Given the description of an element on the screen output the (x, y) to click on. 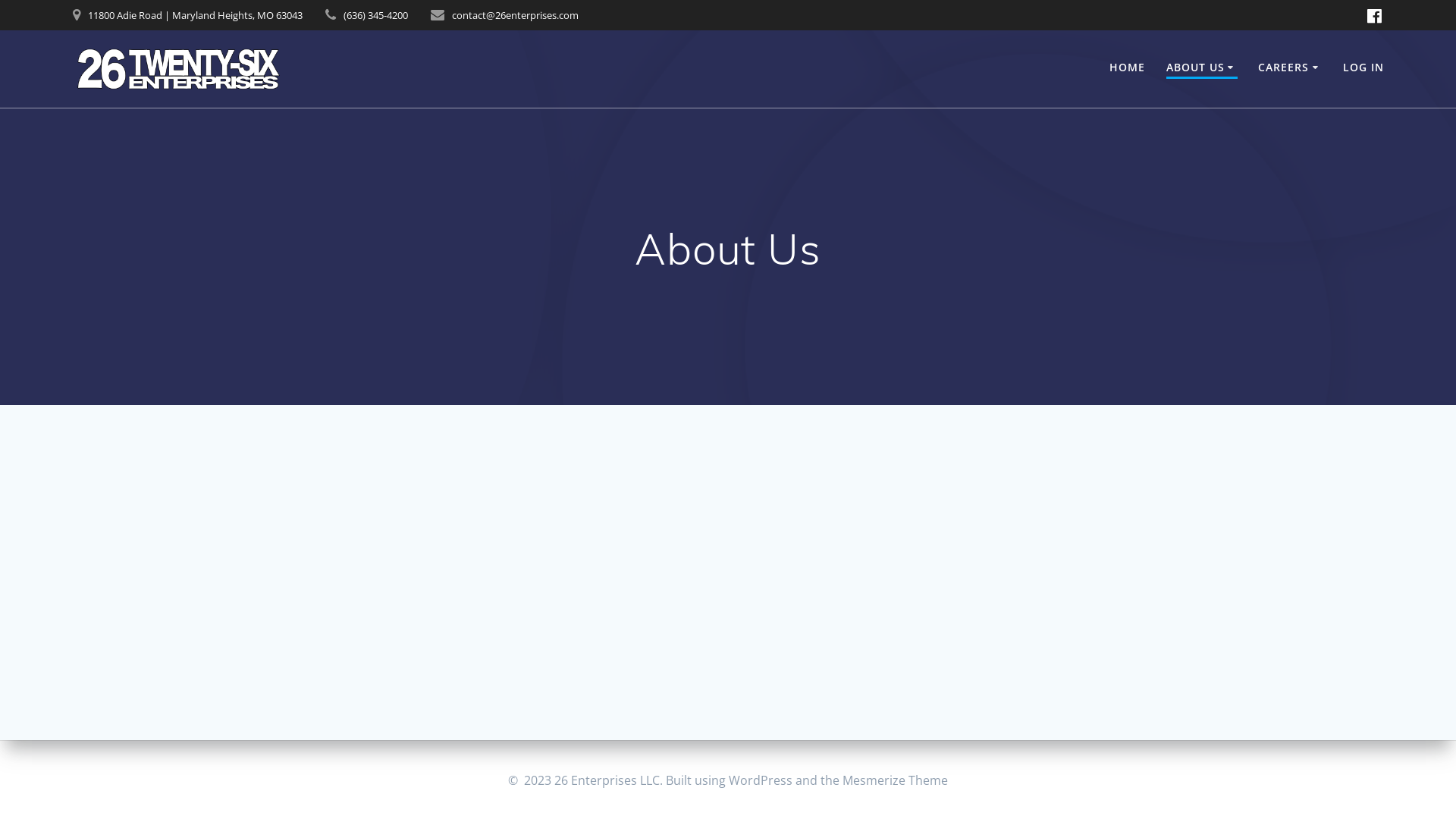
Mesmerize Theme Element type: text (894, 779)
CAREERS Element type: text (1290, 67)
LOG IN Element type: text (1363, 67)
ABOUT US Element type: text (1202, 68)
HOME Element type: text (1127, 67)
